Given the description of an element on the screen output the (x, y) to click on. 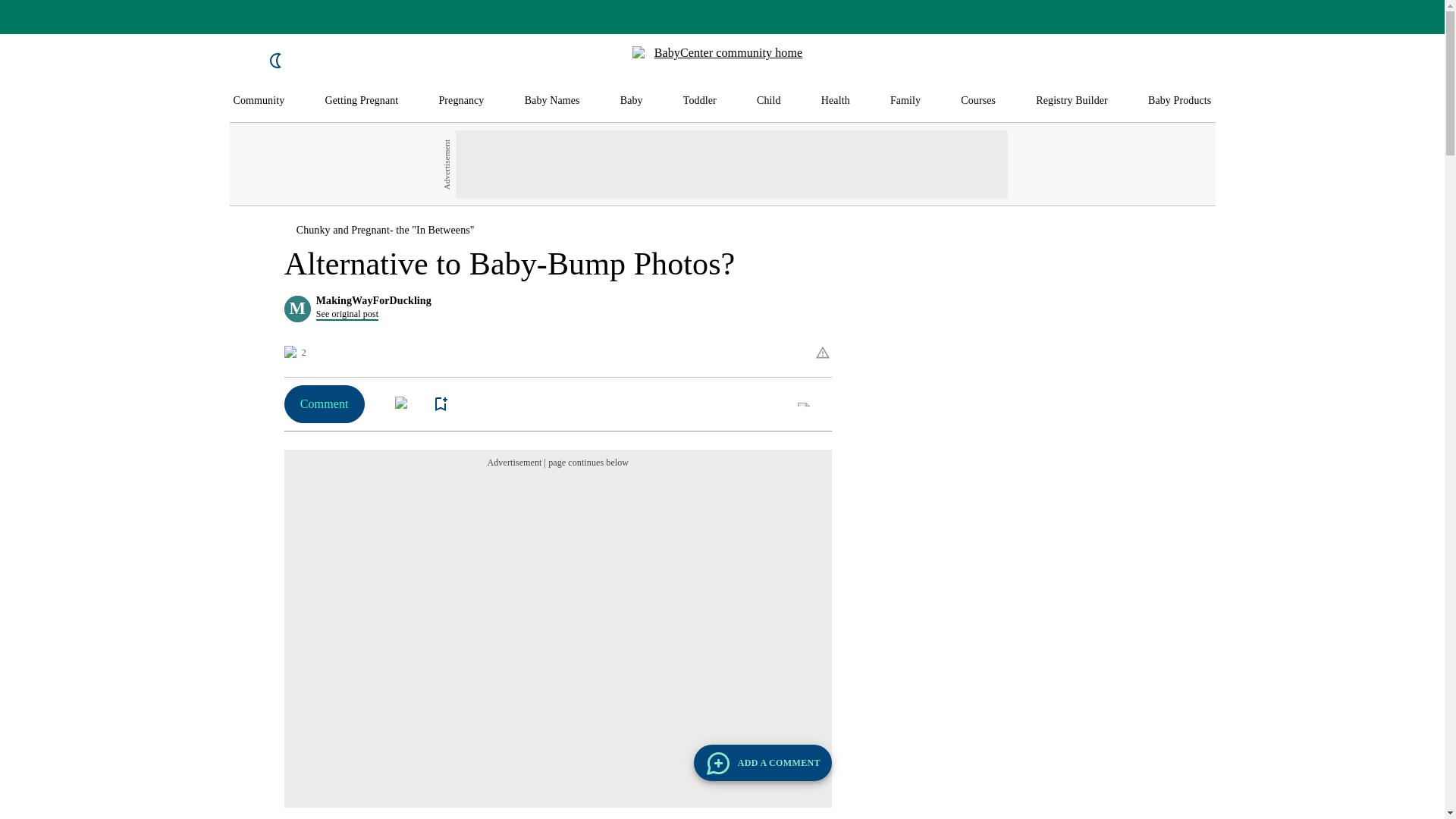
Baby Products (1179, 101)
Toddler (699, 101)
Baby (631, 101)
Pregnancy (460, 101)
Registry Builder (1071, 101)
Getting Pregnant (360, 101)
Community (258, 101)
Family (904, 101)
Child (768, 101)
Health (835, 101)
